Given the description of an element on the screen output the (x, y) to click on. 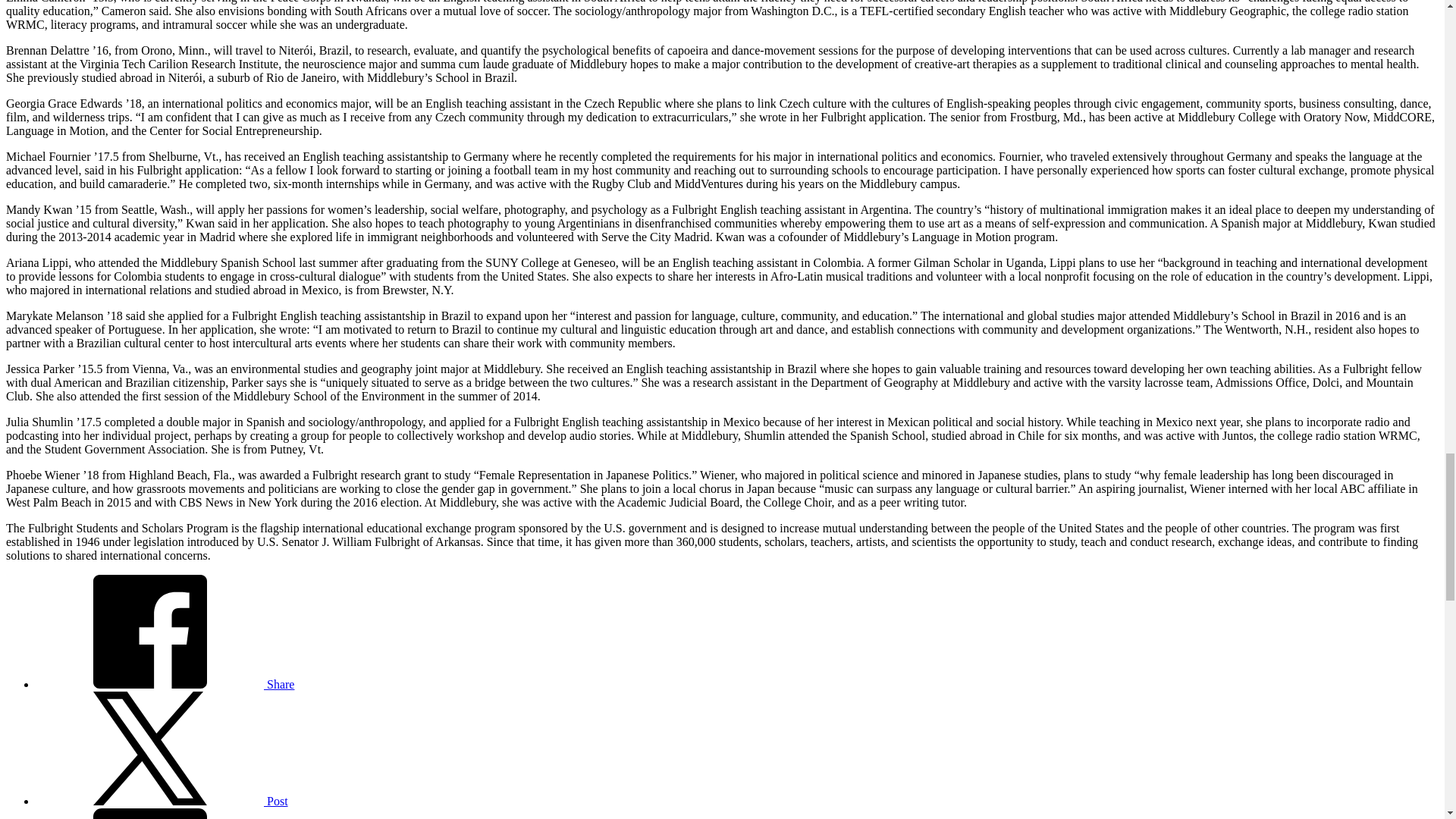
Share on Facebook (165, 684)
Post to X (162, 800)
